Given the description of an element on the screen output the (x, y) to click on. 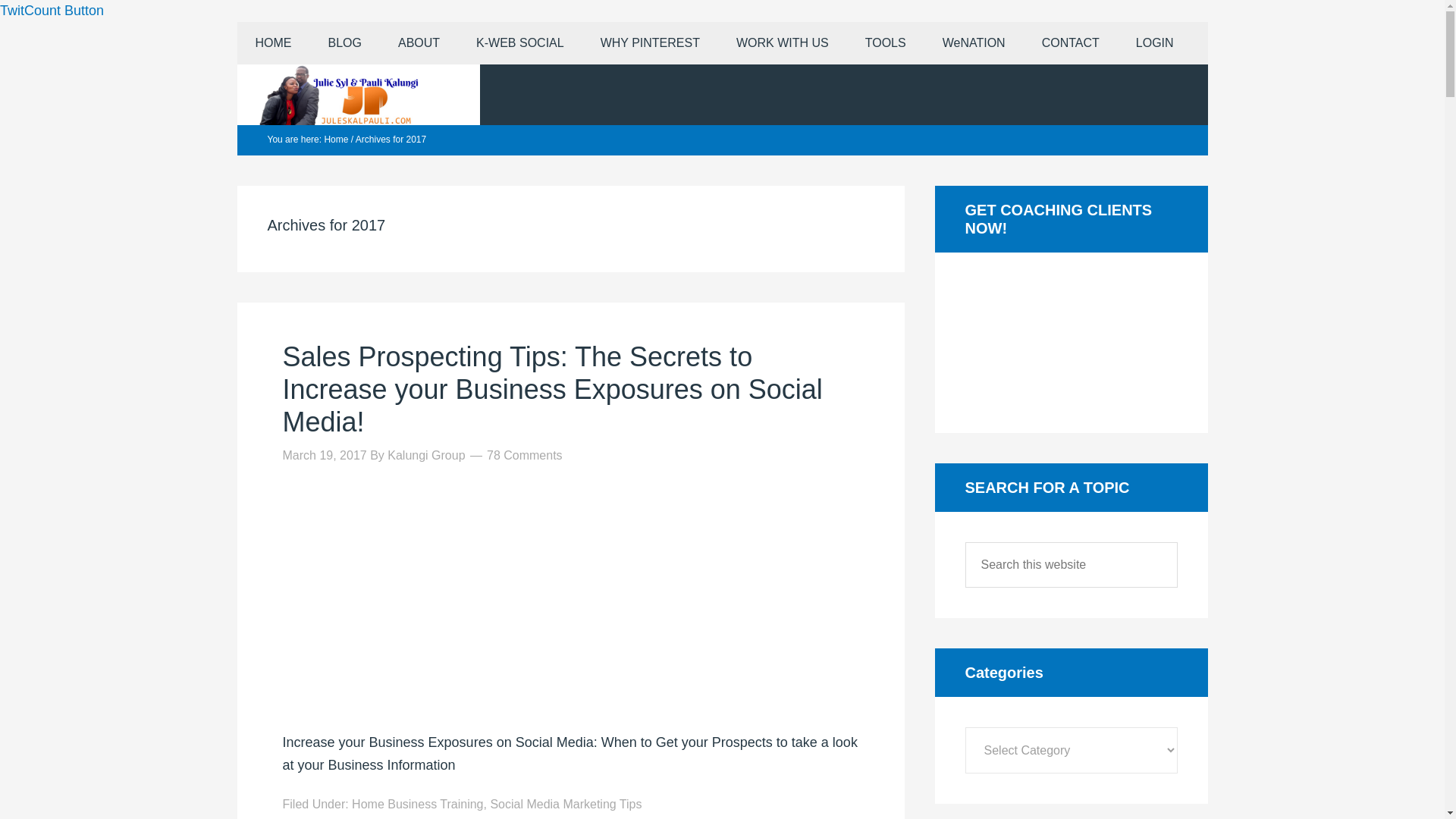
78 Comments (524, 454)
WORK WITH US (782, 43)
K-WEB SOCIAL (520, 43)
LOGIN (1155, 43)
WeNATION (973, 43)
TOOLS (885, 43)
WHY PINTEREST (649, 43)
Kalungi Group (425, 454)
BLOG (343, 43)
